Given the description of an element on the screen output the (x, y) to click on. 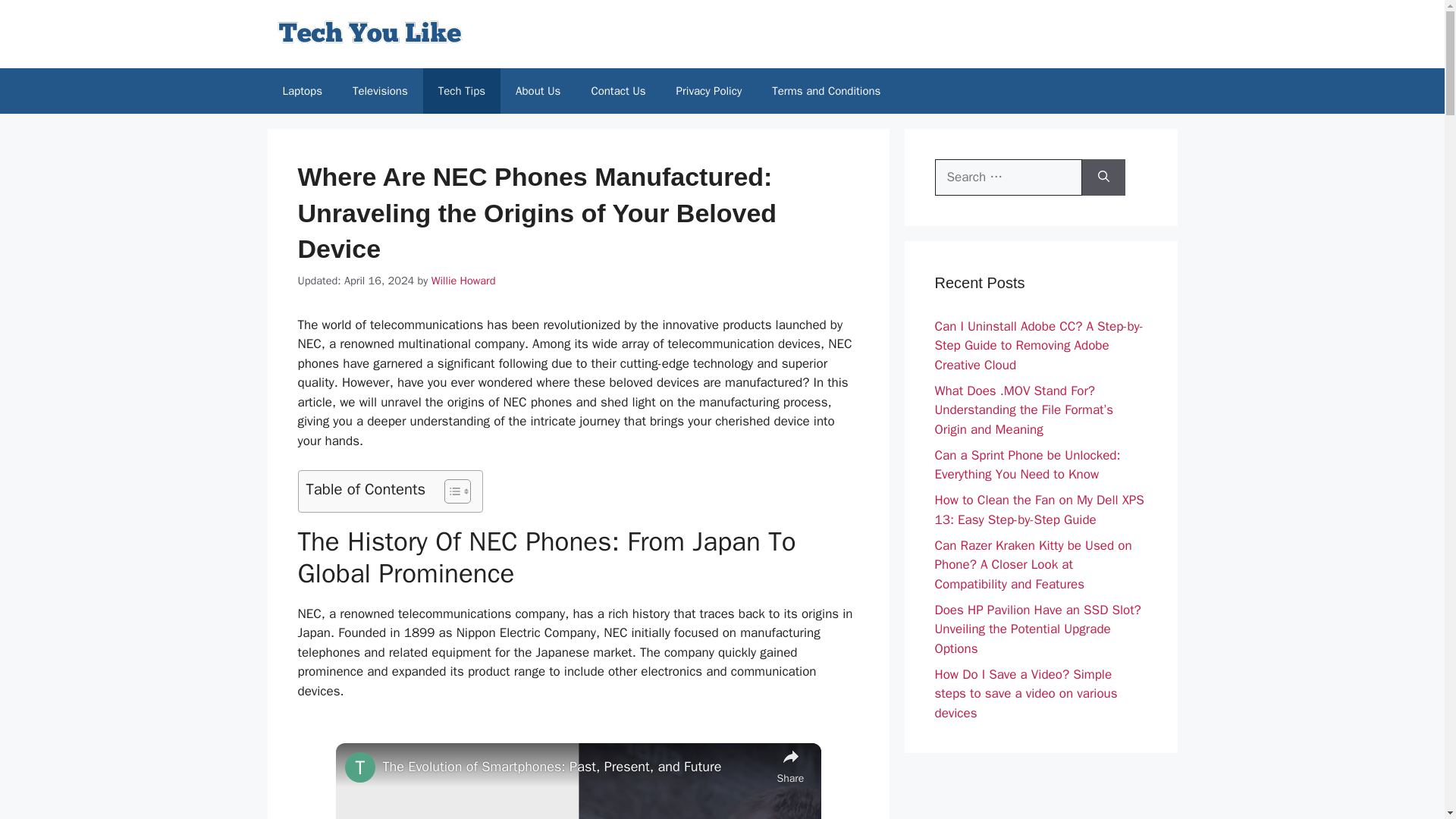
Willie Howard (463, 280)
Terms and Conditions (826, 90)
Privacy Policy (709, 90)
Televisions (380, 90)
About Us (537, 90)
The Evolution of Smartphones: Past, Present, and Future (574, 766)
Tech Tips (461, 90)
Share (789, 764)
View all posts by Willie Howard (463, 280)
Laptops (301, 90)
Contact Us (618, 90)
